Given the description of an element on the screen output the (x, y) to click on. 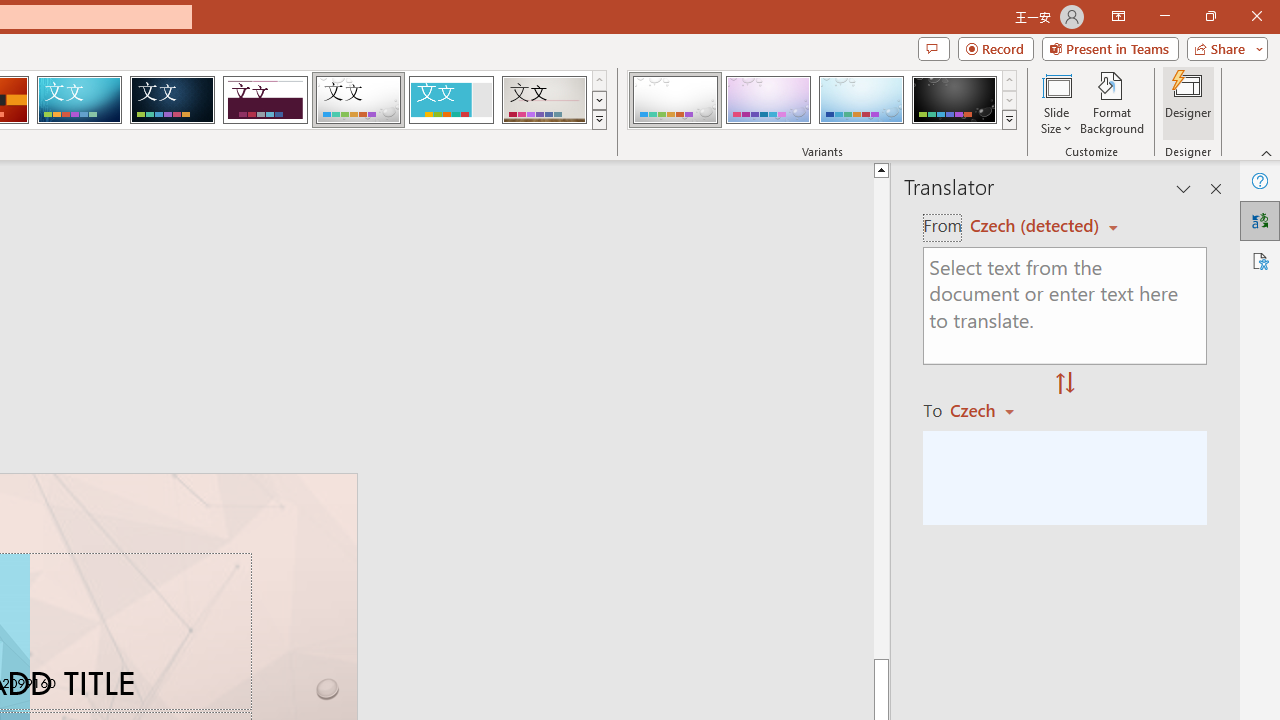
Themes (598, 120)
Variants (1009, 120)
Czech (detected) (1037, 225)
Dividend (265, 100)
Droplet Variant 3 (861, 100)
Frame (450, 100)
